Given the description of an element on the screen output the (x, y) to click on. 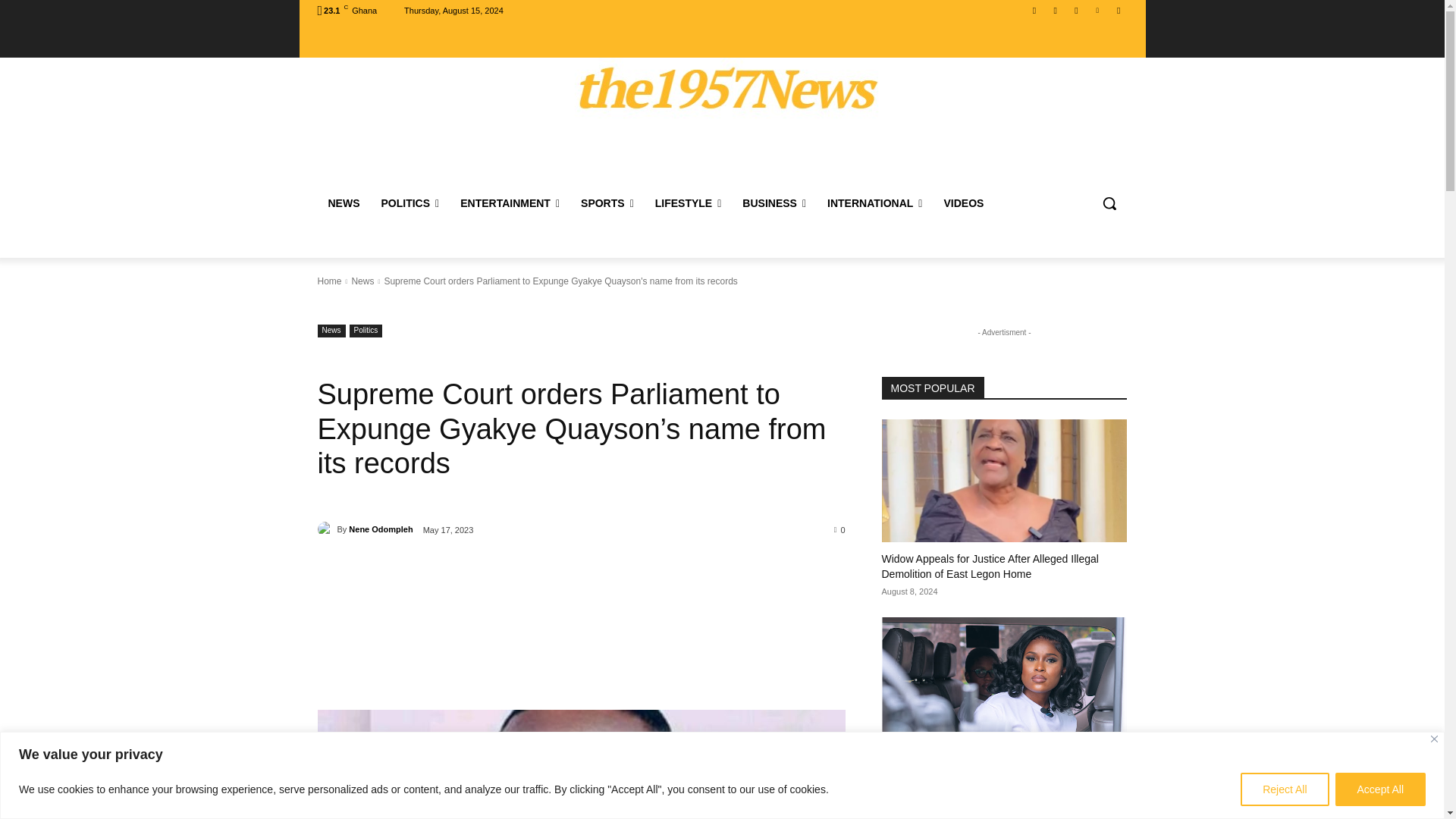
Accept All (1380, 788)
Instagram (1055, 9)
Twitter (1097, 9)
Youtube (1117, 9)
TikTok (1075, 9)
Reject All (1283, 788)
Facebook (1034, 9)
POLITICS (409, 203)
NEWS (343, 203)
